Given the description of an element on the screen output the (x, y) to click on. 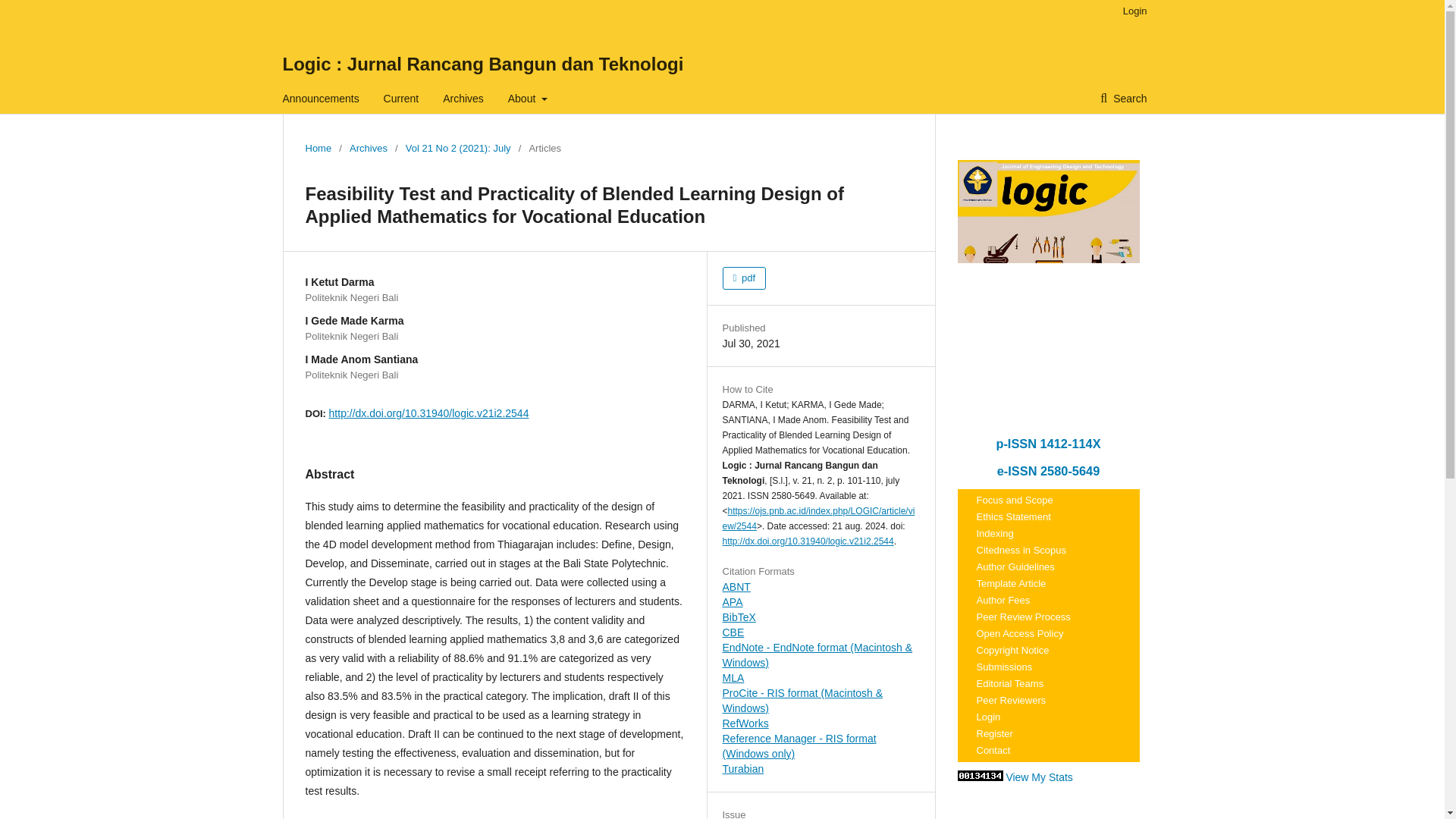
Archives (462, 98)
Indexing (1047, 533)
Login (1047, 716)
Peer Reviewers (1047, 700)
p-ISSN 1412-114X (1047, 443)
Contact (1047, 750)
Search (1122, 98)
Editorial Teams (1047, 683)
Author Fees (1047, 599)
Register (1047, 733)
